Given the description of an element on the screen output the (x, y) to click on. 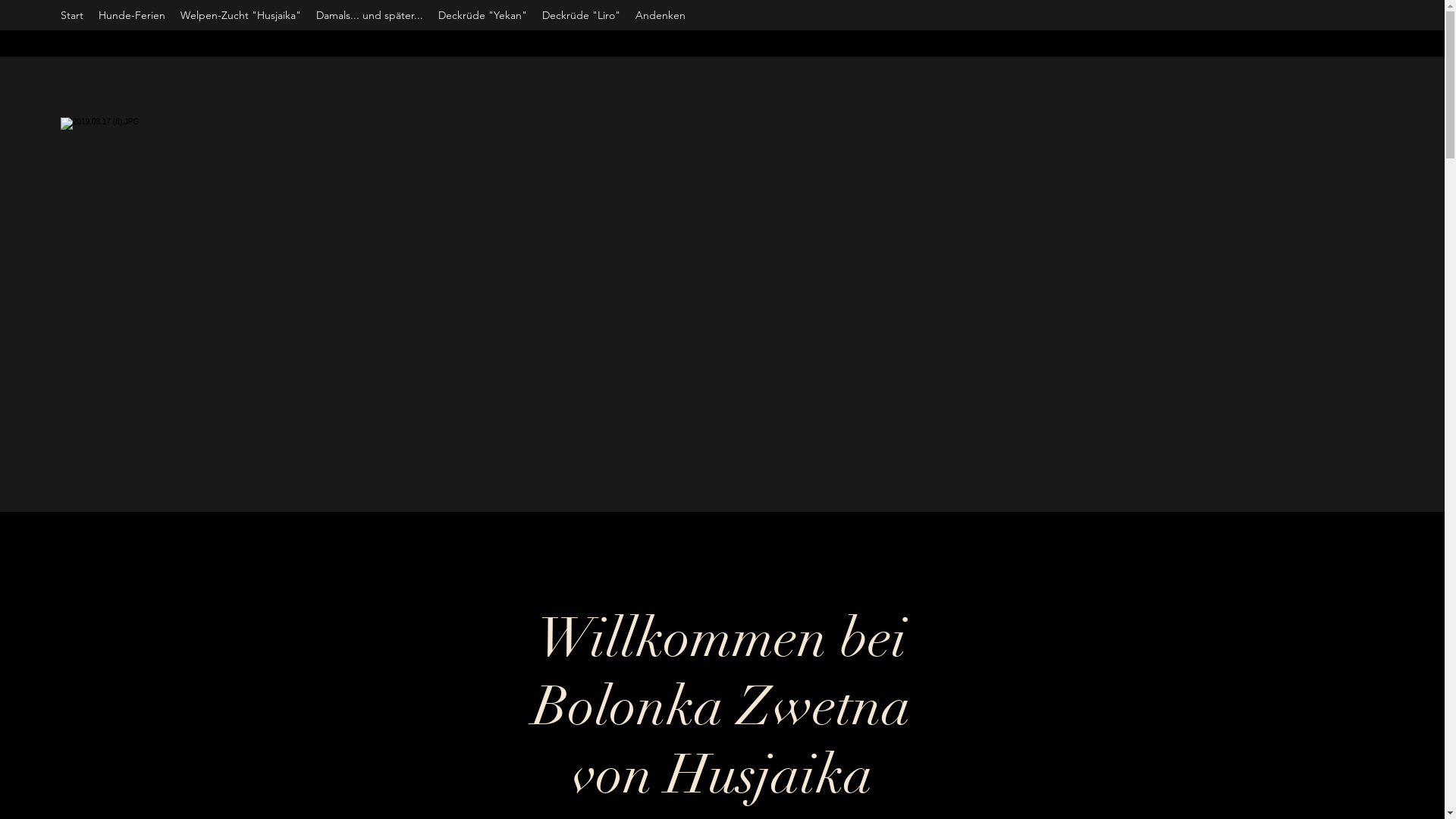
Start Element type: text (72, 14)
Andenken Element type: text (660, 14)
Hunde-Ferien Element type: text (131, 14)
Welpen-Zucht "Husjaika" Element type: text (240, 14)
